Given the description of an element on the screen output the (x, y) to click on. 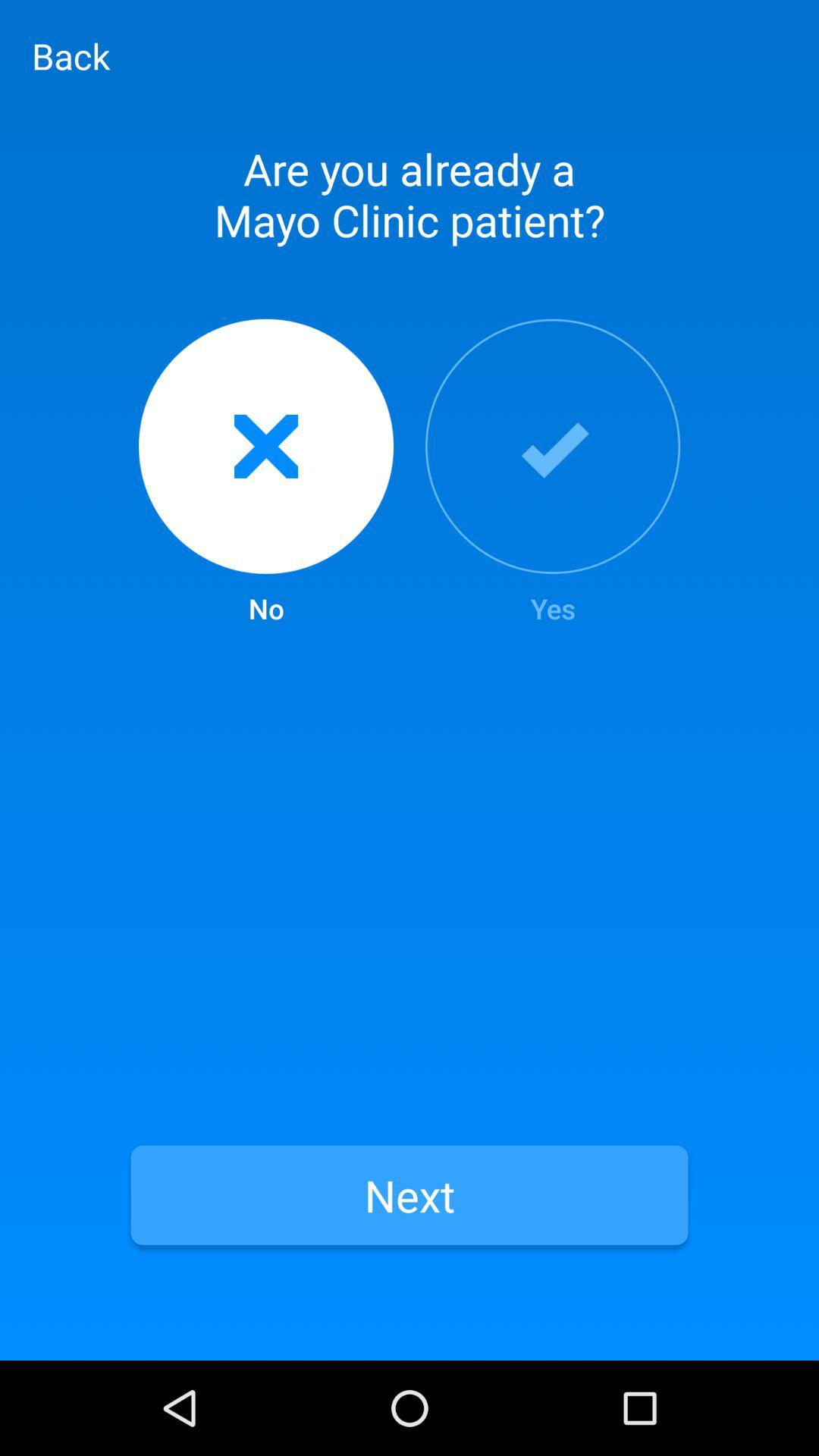
choose no (265, 473)
